Given the description of an element on the screen output the (x, y) to click on. 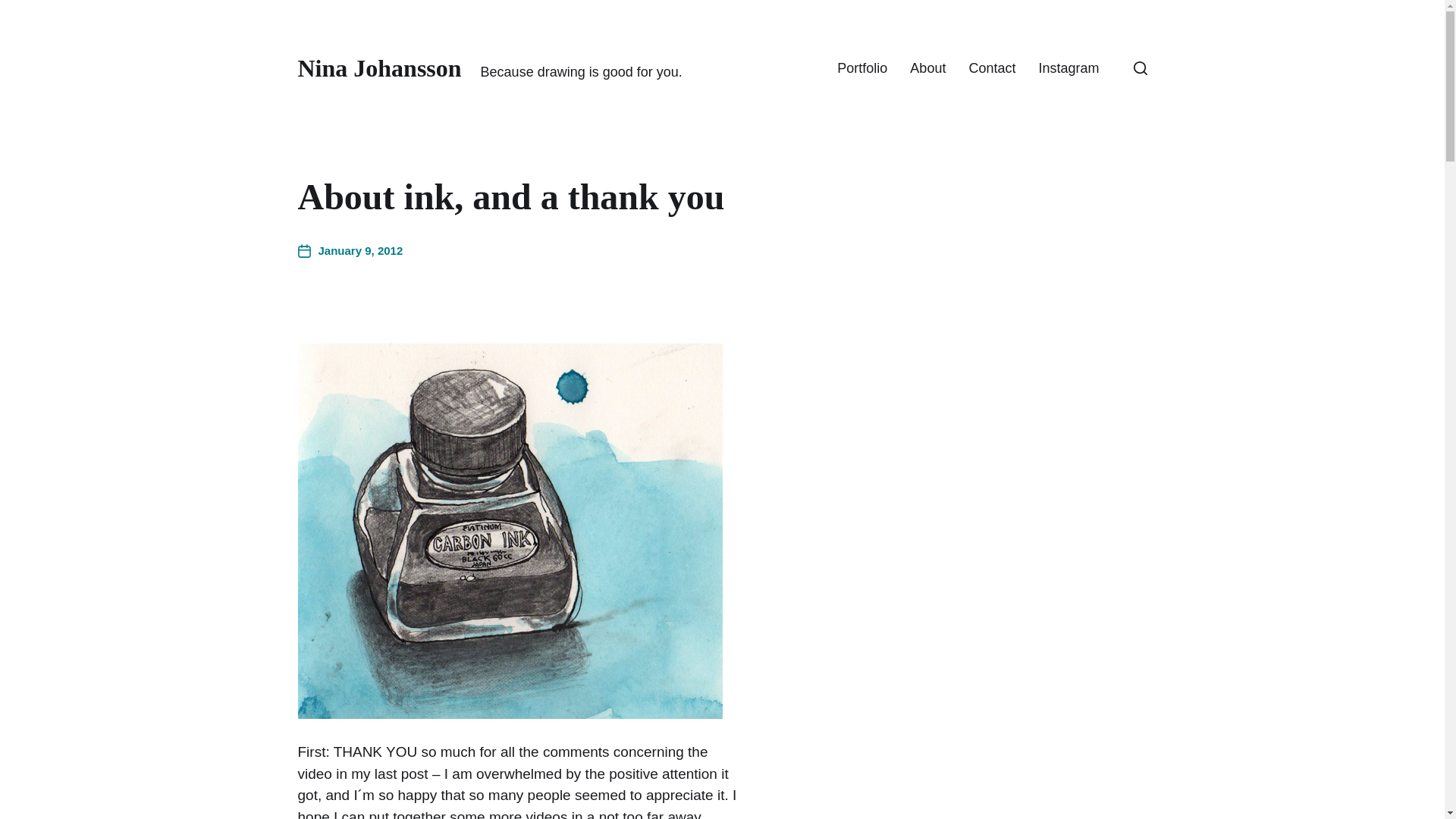
Contact (991, 68)
January 9, 2012 (350, 251)
Instagram (1068, 68)
Portfolio (861, 68)
Nina Johansson (379, 68)
About (927, 68)
